Given the description of an element on the screen output the (x, y) to click on. 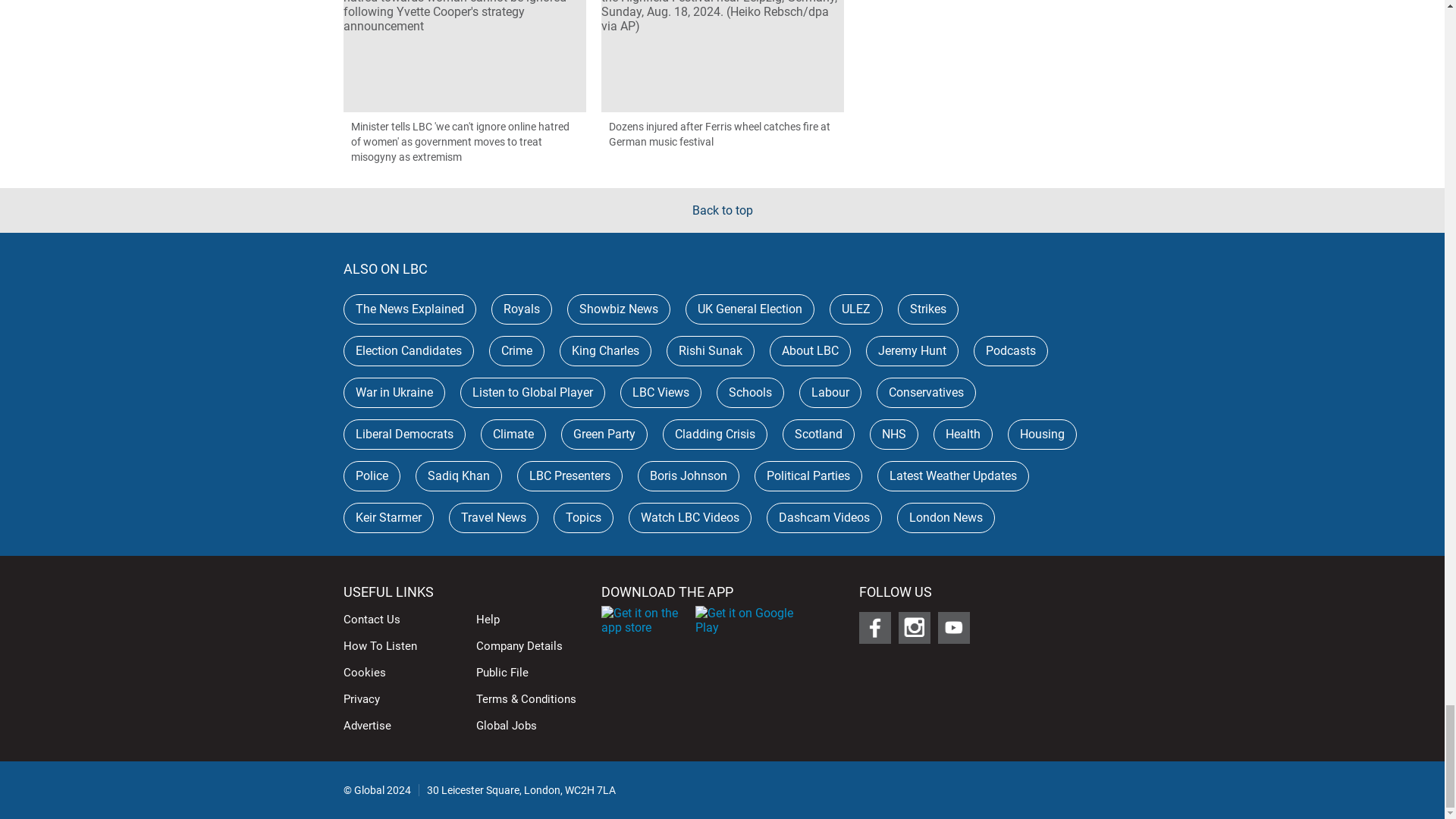
Back to top (721, 210)
Follow LBC on Instagram (914, 627)
Follow LBC on Facebook (874, 627)
Follow LBC on Youtube (953, 627)
